Given the description of an element on the screen output the (x, y) to click on. 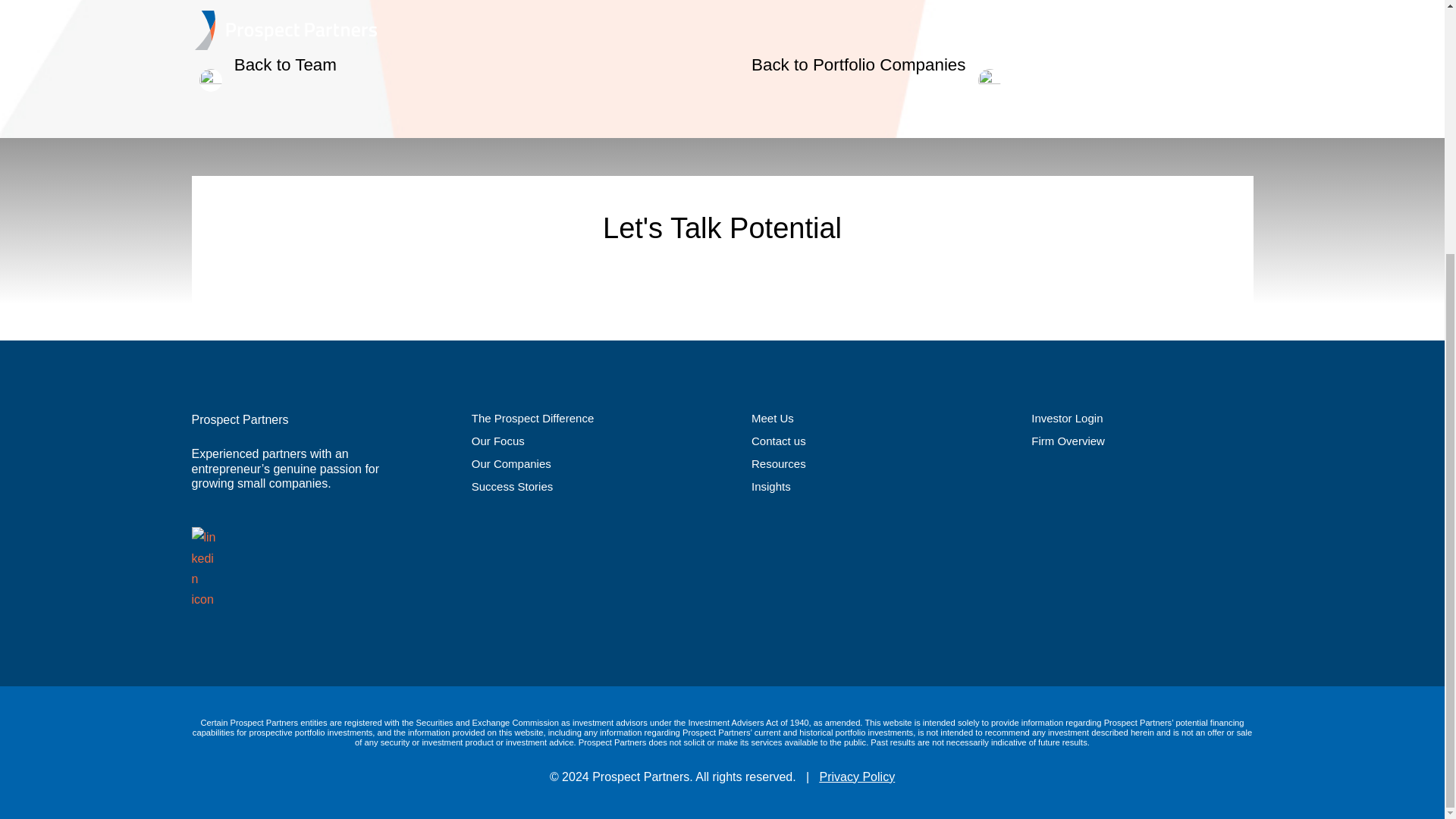
Success Stories (512, 486)
Investor Login (1066, 418)
Resources (778, 463)
Our Focus (497, 440)
Back to Portfolio Companies (880, 64)
Meet Us (772, 418)
Insights (770, 486)
Back to Team (263, 64)
Our Companies (511, 463)
Contact us (778, 440)
Privacy Policy (857, 776)
The Prospect Difference (532, 418)
Firm Overview (1067, 440)
